Given the description of an element on the screen output the (x, y) to click on. 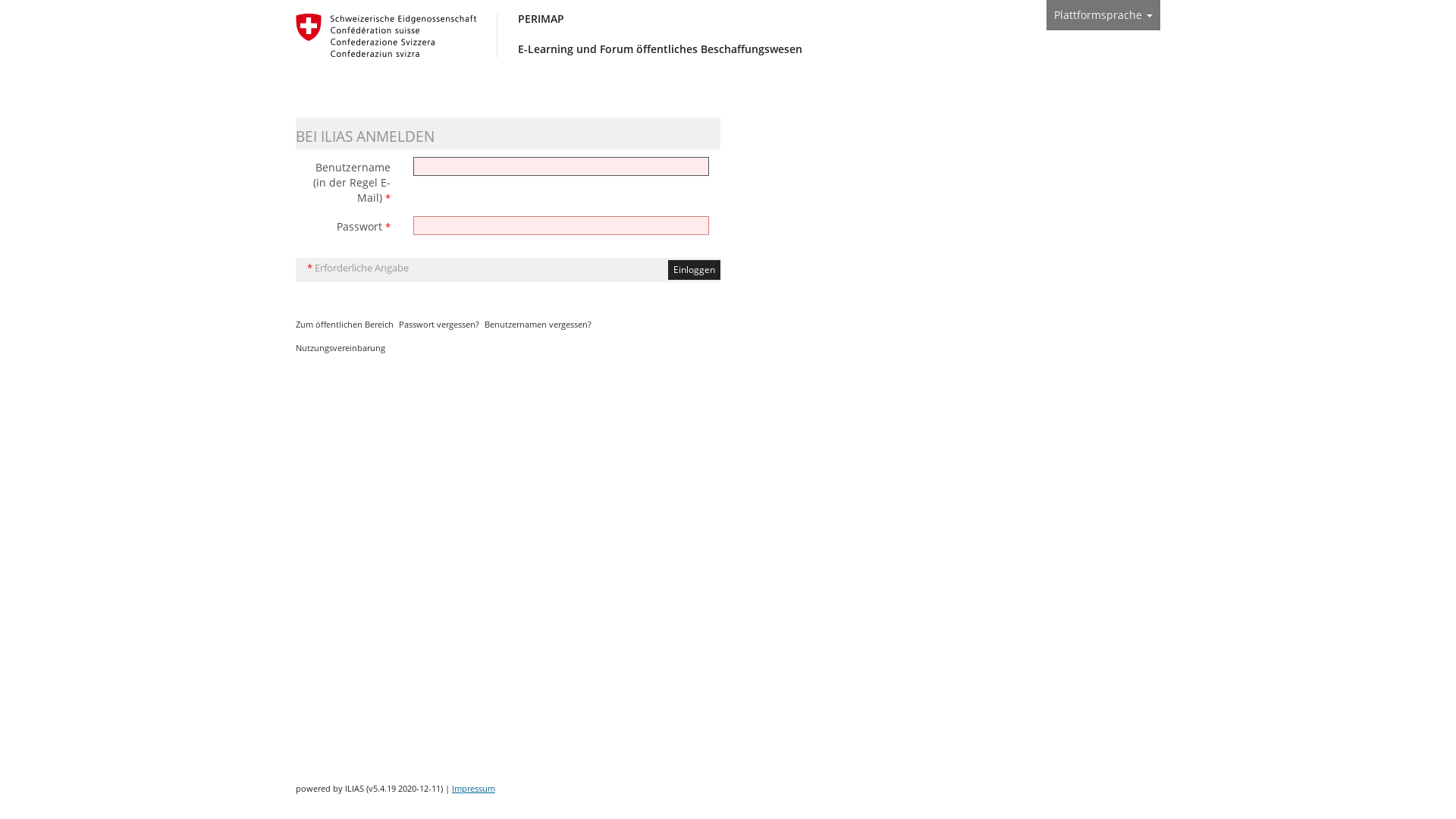
Benutzernamen vergessen? Element type: text (537, 323)
Plattformsprache Element type: text (1103, 15)
Nutzungsvereinbarung Element type: text (340, 347)
Passwort vergessen? Element type: text (438, 323)
Impressum Element type: text (473, 787)
Einloggen Element type: text (694, 269)
